Given the description of an element on the screen output the (x, y) to click on. 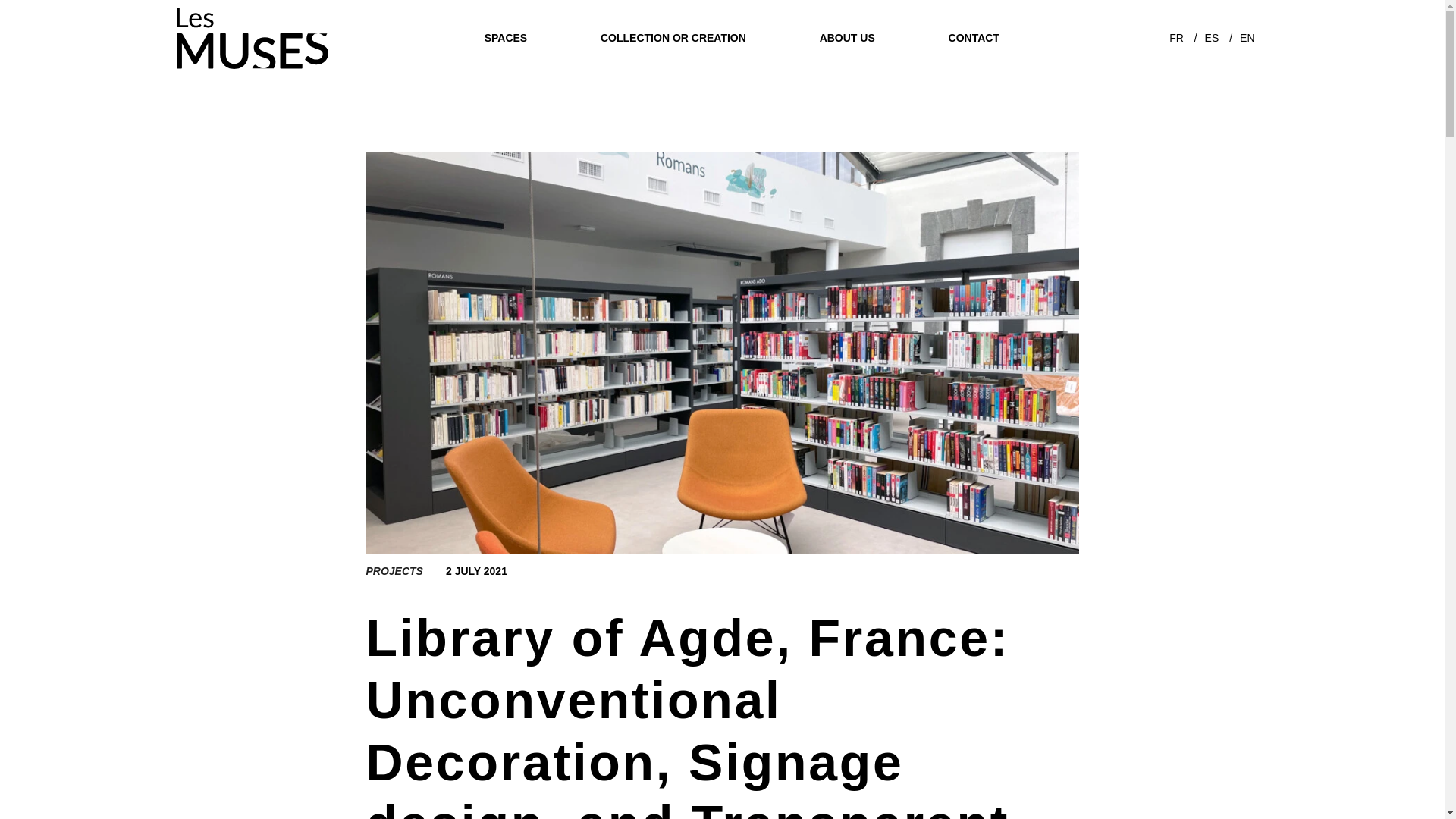
ES (1211, 35)
COLLECTION OR CREATION (673, 31)
FR (1176, 35)
PROJECTS (393, 571)
CONTACT (973, 34)
EN (1246, 35)
ABOUT US (847, 31)
